Given the description of an element on the screen output the (x, y) to click on. 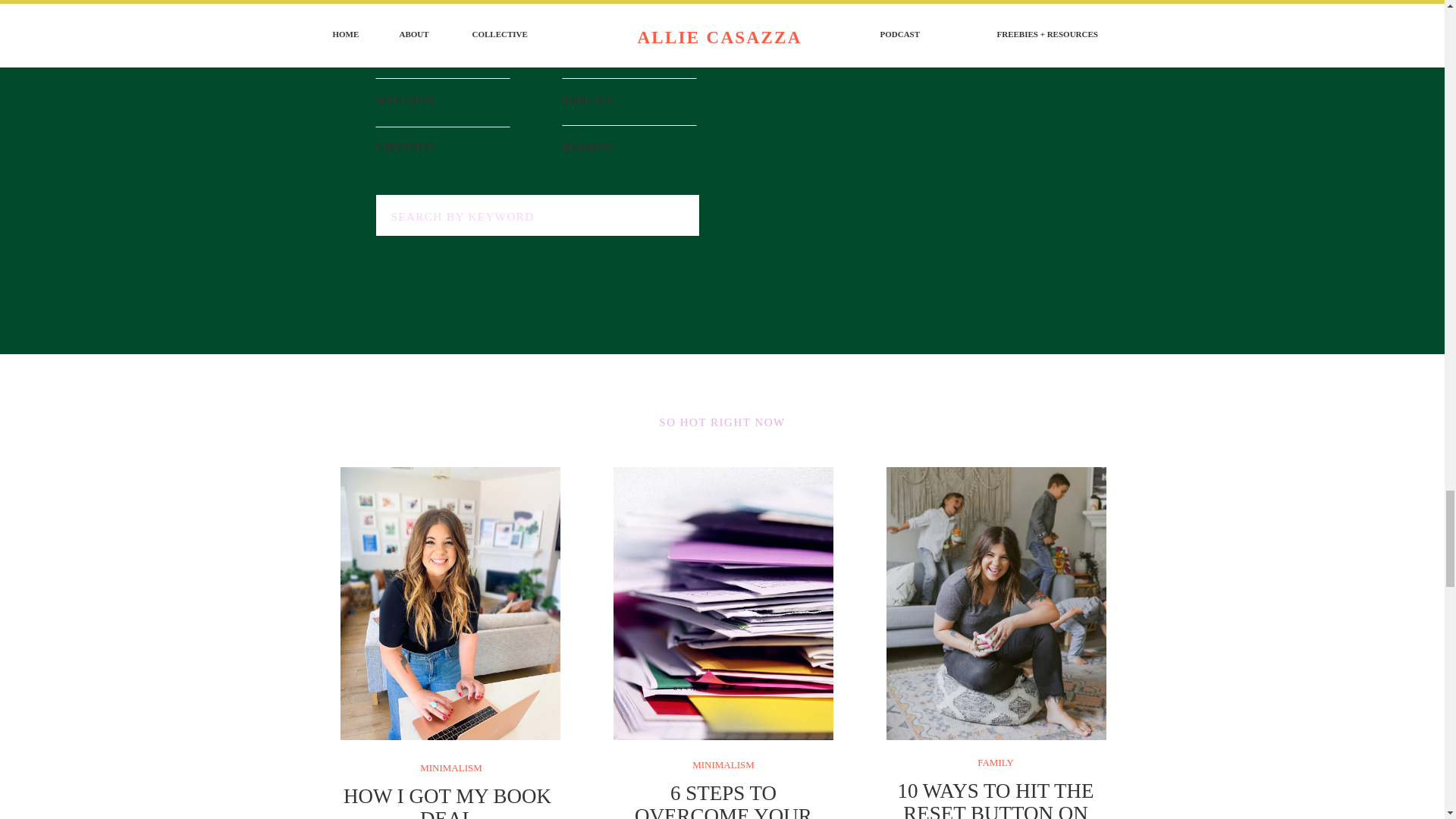
LIFESTYLE (445, 147)
HOME (448, 53)
PODCAST (639, 100)
BUSINESS (631, 147)
WELLNESS (452, 100)
